Given the description of an element on the screen output the (x, y) to click on. 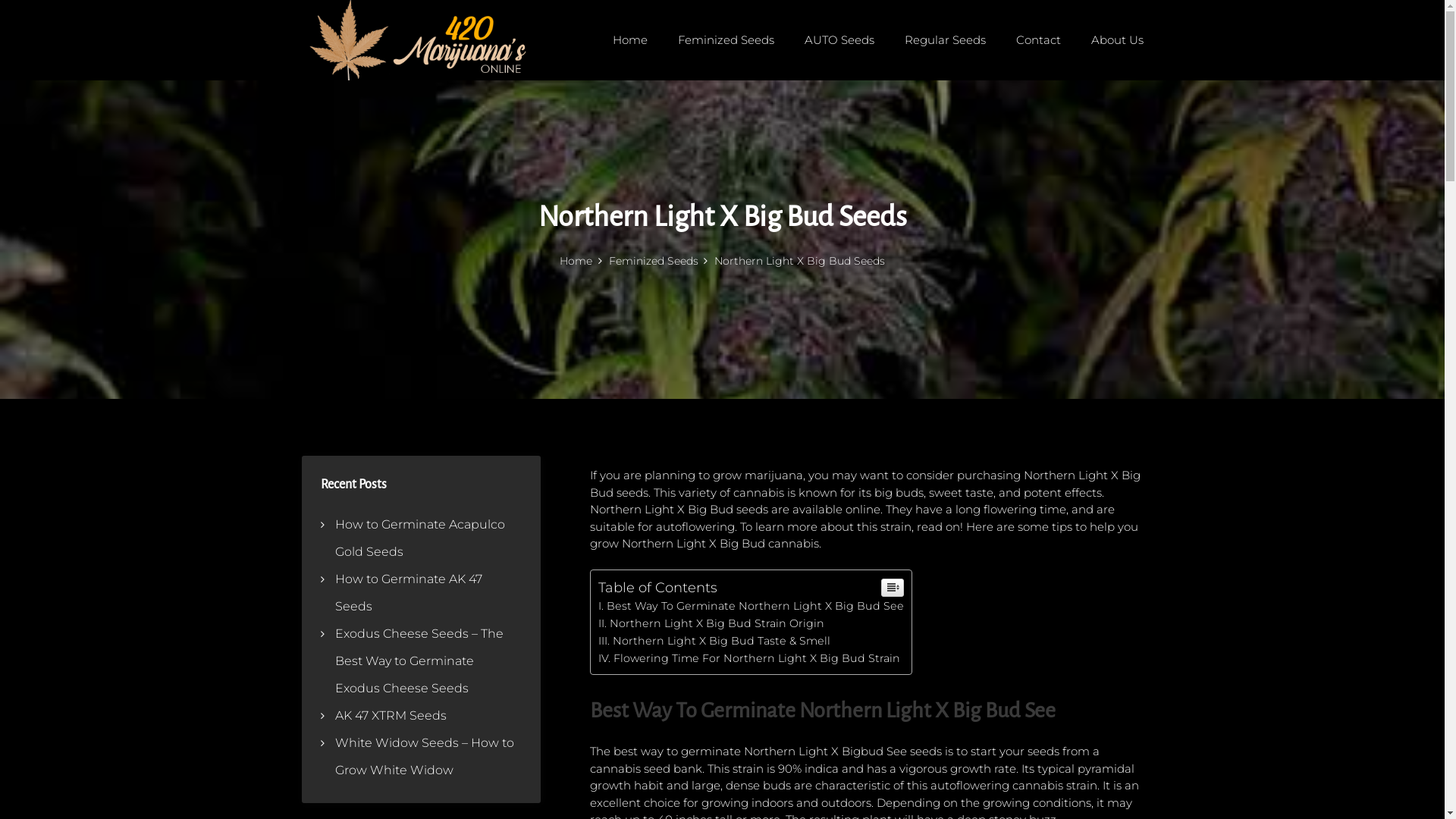
Home Element type: text (629, 39)
Flowering Time For Northern Light X Big Bud Strain Element type: text (748, 658)
About Us Element type: text (1116, 39)
Regular Seeds Element type: text (944, 39)
Feminized Seeds Element type: text (657, 260)
How to Germinate Acapulco Gold Seeds Element type: text (420, 537)
AUTO Seeds Element type: text (838, 39)
Northern Light X Big Bud Strain Origin Element type: text (710, 623)
AK 47 XTRM Seeds Element type: text (390, 715)
Contact Element type: text (1038, 39)
Northern Light X Big Bud Taste & Smell Element type: text (713, 640)
Circular focus Element type: text (1443, 228)
Home Element type: text (580, 260)
How to Germinate AK 47 Seeds Element type: text (408, 592)
Best Way To Germinate Northern Light X Big Bud See Element type: text (750, 605)
Feminized Seeds Element type: text (725, 39)
